Given the description of an element on the screen output the (x, y) to click on. 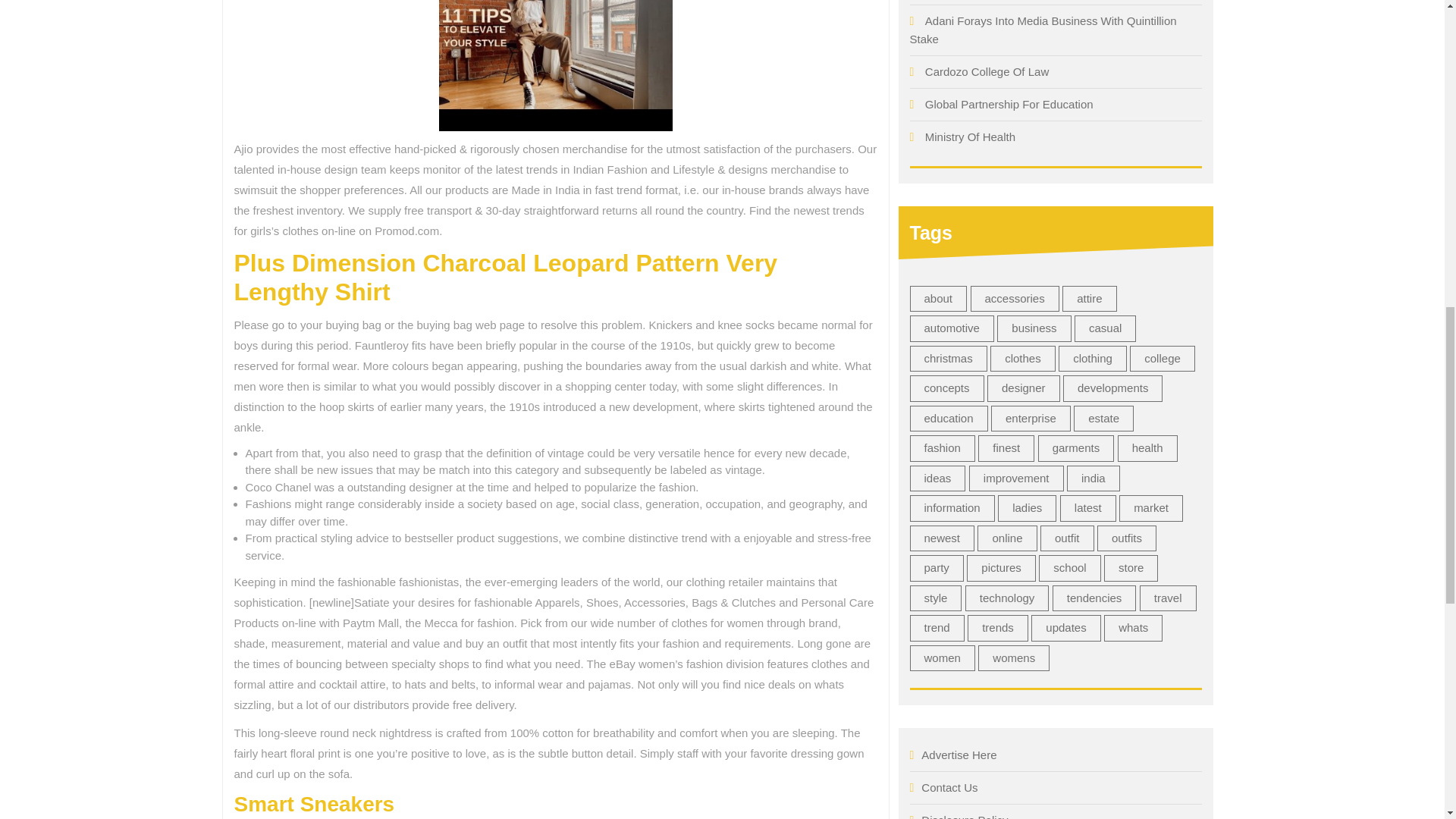
attire (1089, 298)
about (939, 298)
Ministry Of Health (969, 136)
college (1162, 358)
business (1033, 328)
automotive (952, 328)
accessories (1015, 298)
education (949, 418)
casual (1104, 328)
Adani Forays Into Media Business With Quintillion Stake (1043, 29)
